Given the description of an element on the screen output the (x, y) to click on. 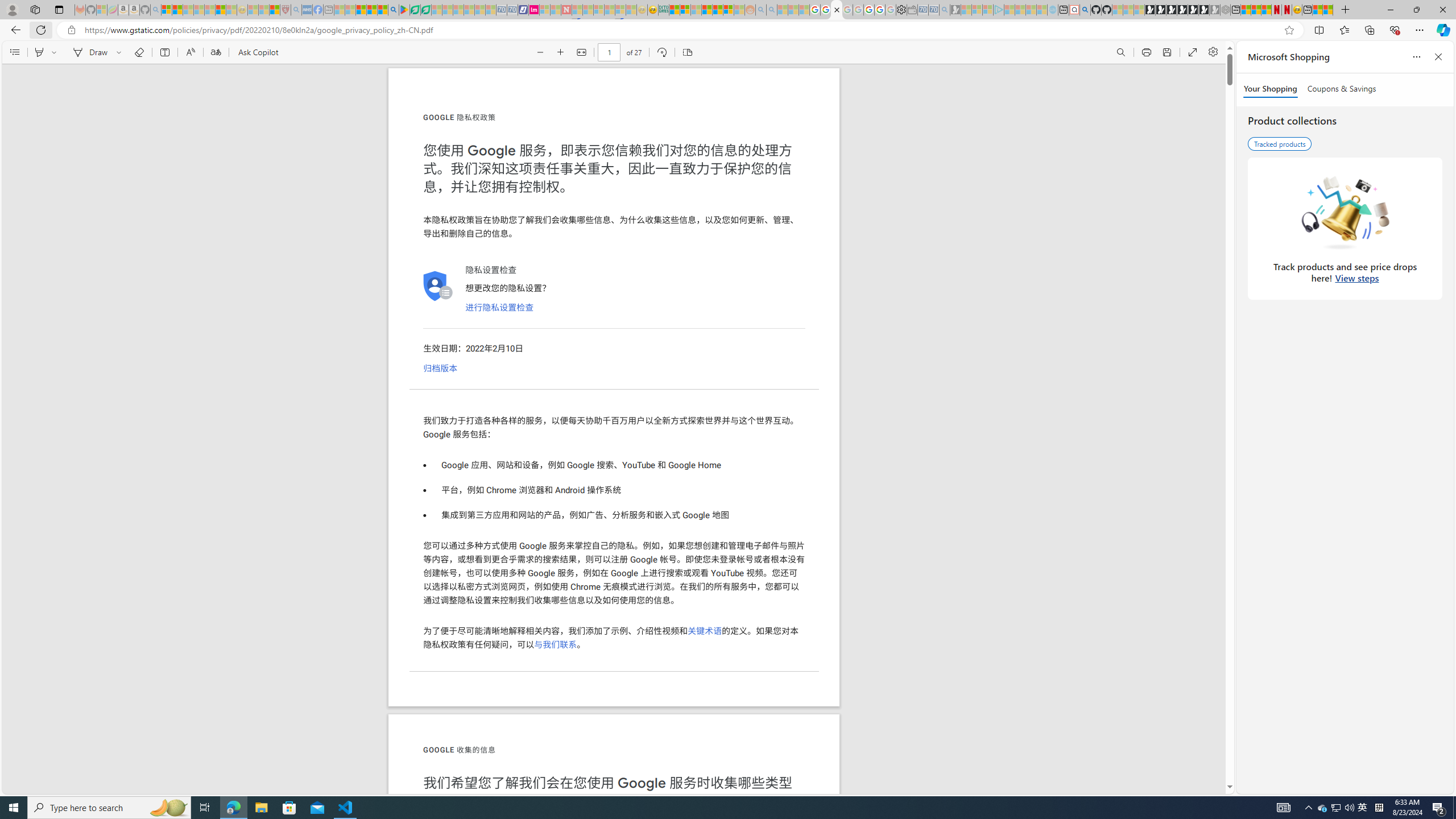
Zoom out (Ctrl+Minus key) (540, 52)
Erase (138, 52)
PDF bar (613, 51)
Page number (609, 52)
Highlight (39, 52)
Bing Real Estate - Home sales and rental listings - Sleeping (944, 9)
